Given the description of an element on the screen output the (x, y) to click on. 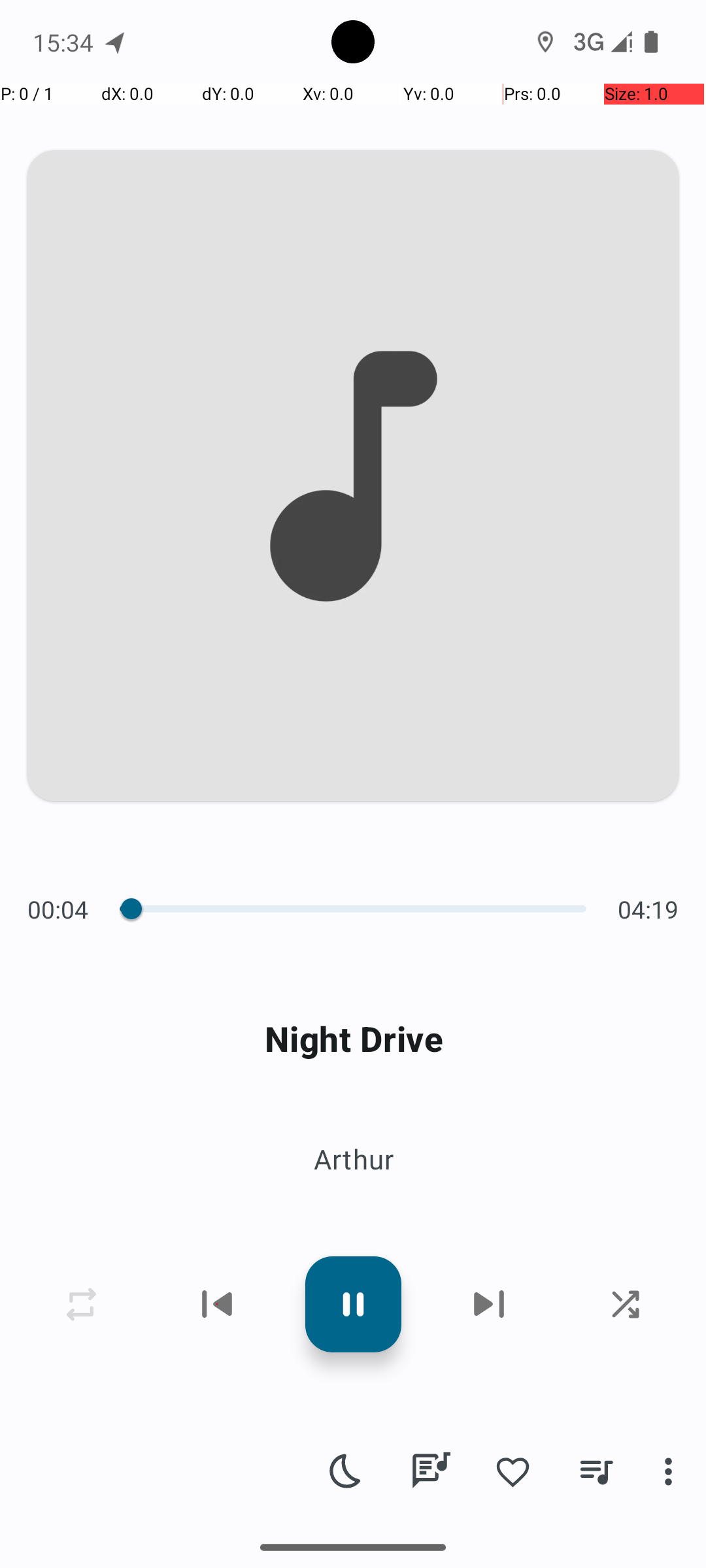
00:04 Element type: android.widget.TextView (61, 908)
04:19 Element type: android.widget.TextView (643, 908)
Night Drive Element type: android.widget.TextView (353, 1038)
Arthur Element type: android.widget.TextView (352, 1158)
Sleep timer Element type: android.widget.Button (346, 1471)
Lyrics Element type: android.widget.Button (429, 1471)
Add to favorites Element type: android.widget.Button (512, 1471)
Now playing queue Element type: android.widget.Button (595, 1471)
1 Album • 1 Song • 04:19 Element type: android.widget.TextView (352, 1004)
Play all Element type: android.widget.Button (186, 1096)
Album Element type: android.widget.TextView (353, 1188)
Value, 11003 Element type: android.widget.SeekBar (142, 908)
Music Element type: android.widget.TextView (168, 1544)
